Given the description of an element on the screen output the (x, y) to click on. 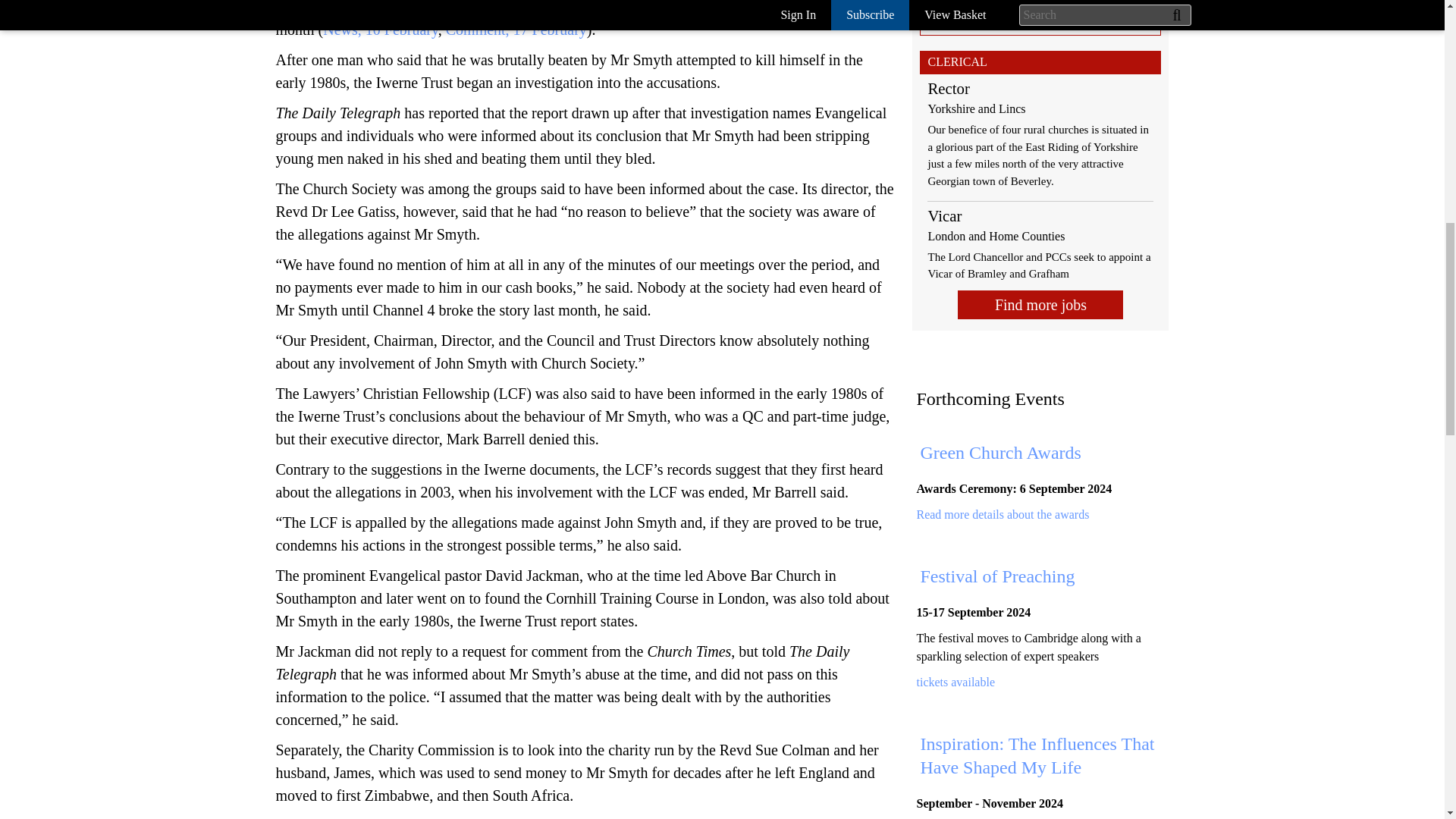
Inspiration: The Influences That Have Shaped My Life (1037, 755)
How Smyth justified the abuse (515, 29)
